Given the description of an element on the screen output the (x, y) to click on. 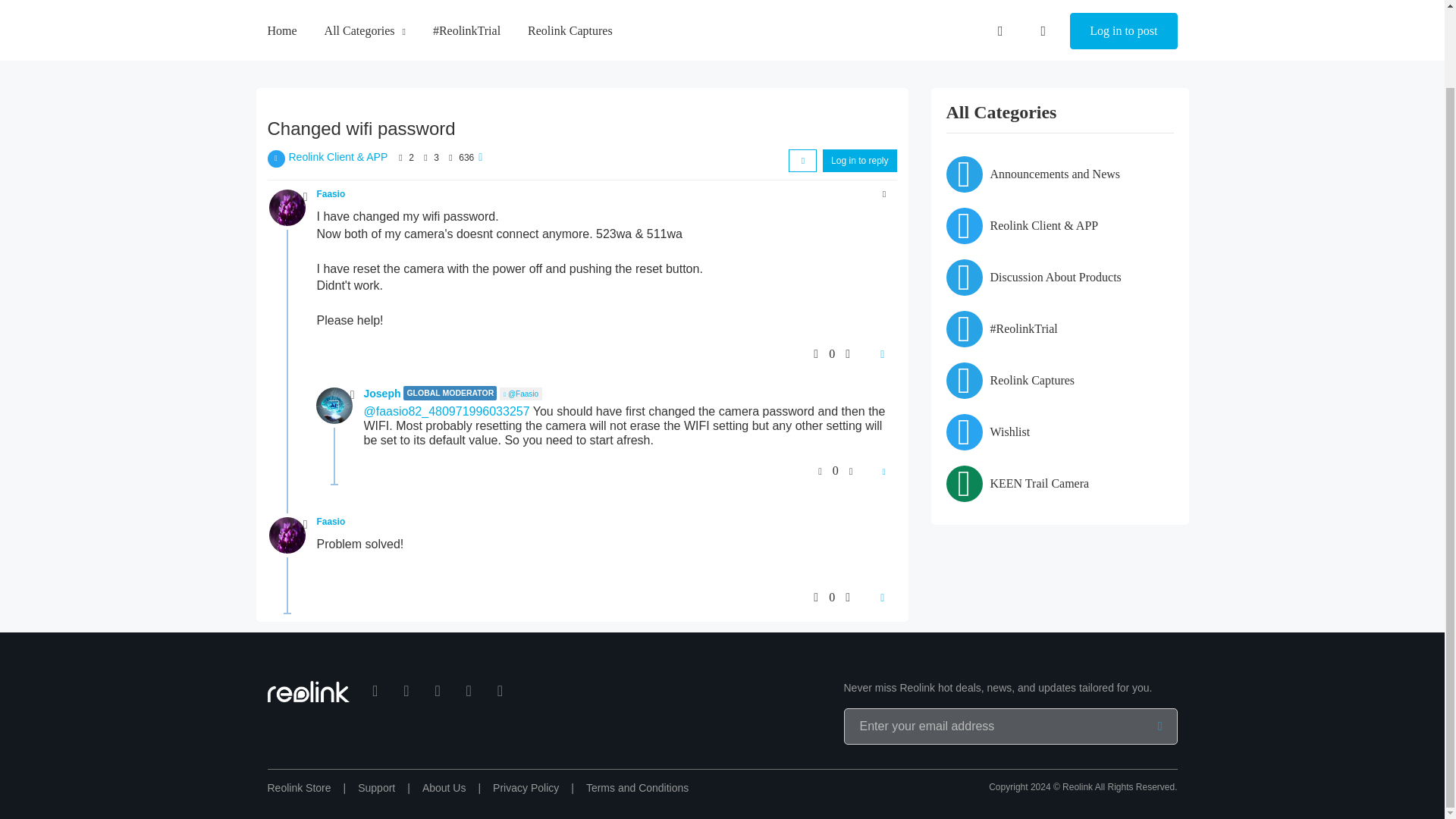
Views (451, 157)
Posters (400, 157)
Log in to reply (859, 160)
636 (466, 157)
Posts (425, 157)
Sort by (802, 160)
Faasio (331, 194)
